Given the description of an element on the screen output the (x, y) to click on. 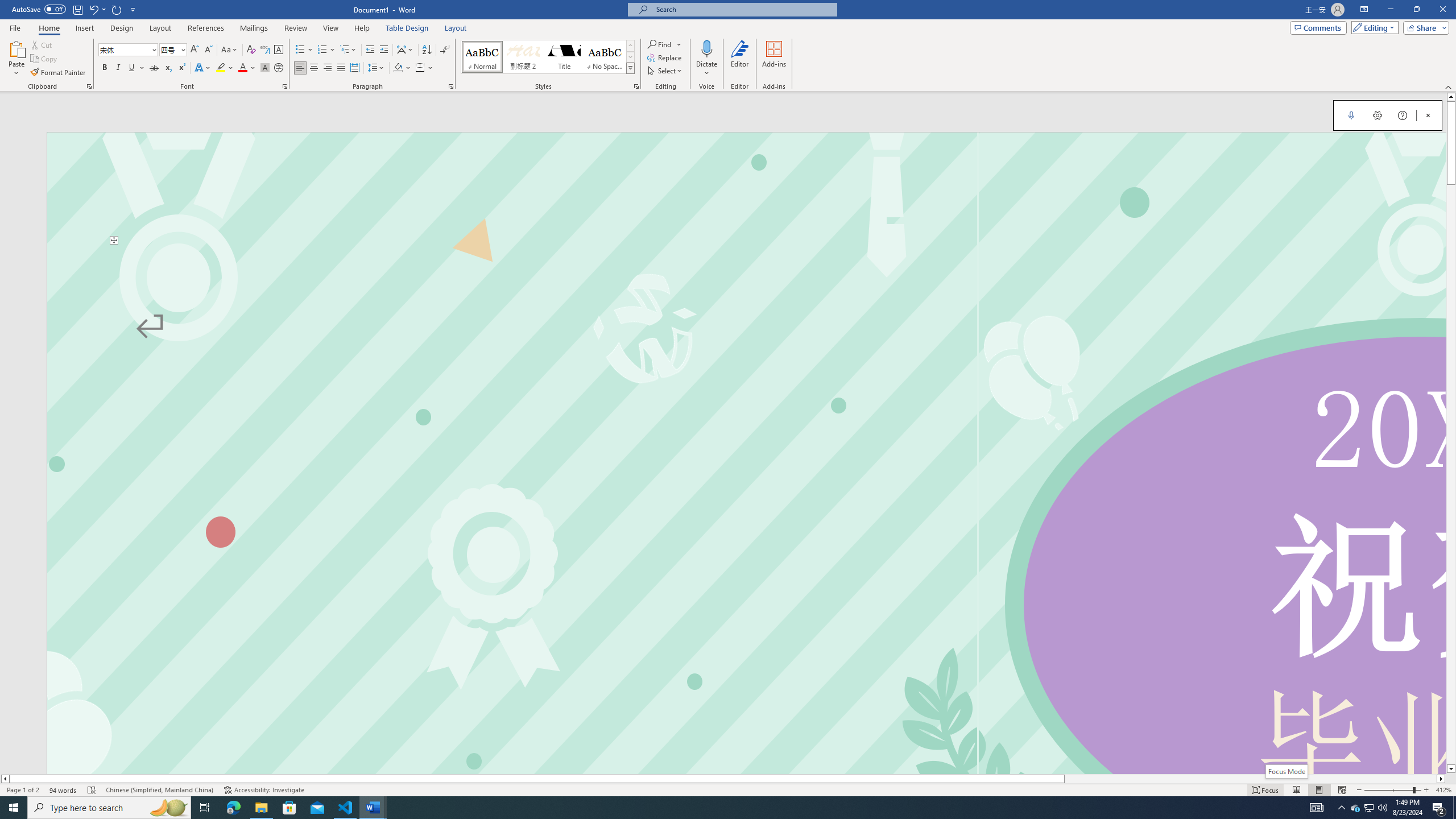
Word Count 94 words (63, 790)
Page 1 content (745, 508)
Line up (1450, 96)
